Given the description of an element on the screen output the (x, y) to click on. 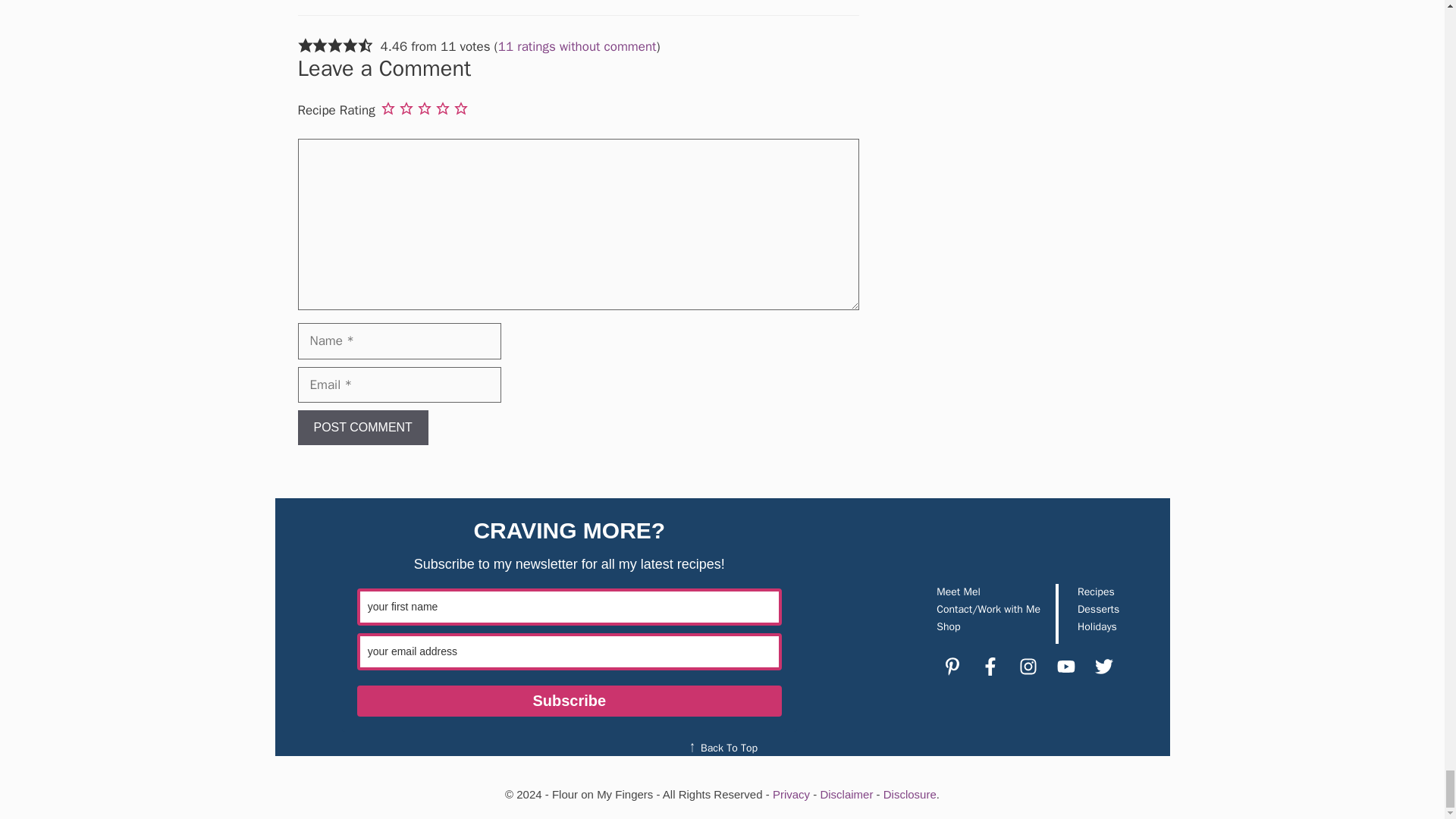
Post Comment (362, 427)
